Given the description of an element on the screen output the (x, y) to click on. 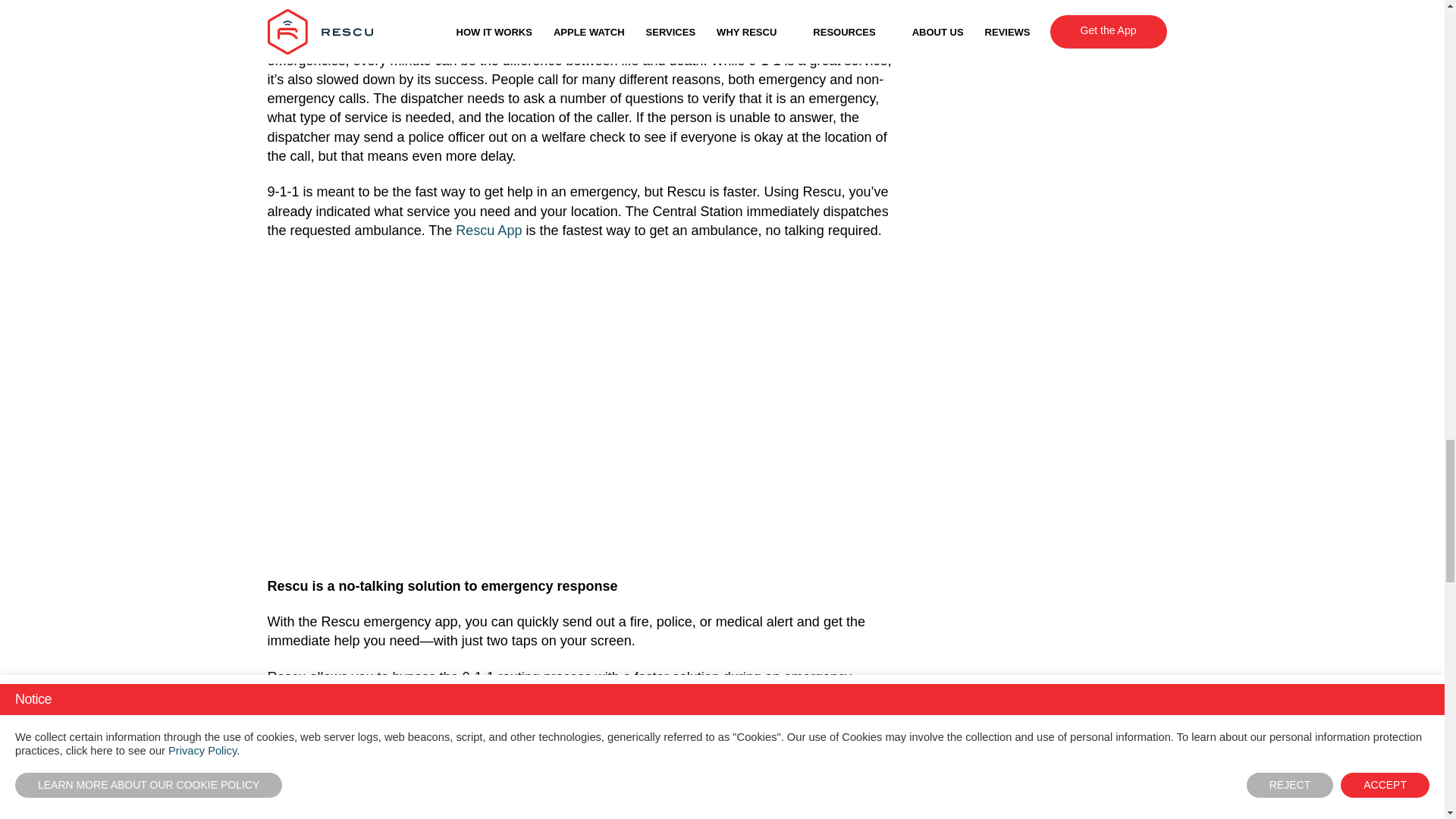
Rescu App (489, 803)
